Given the description of an element on the screen output the (x, y) to click on. 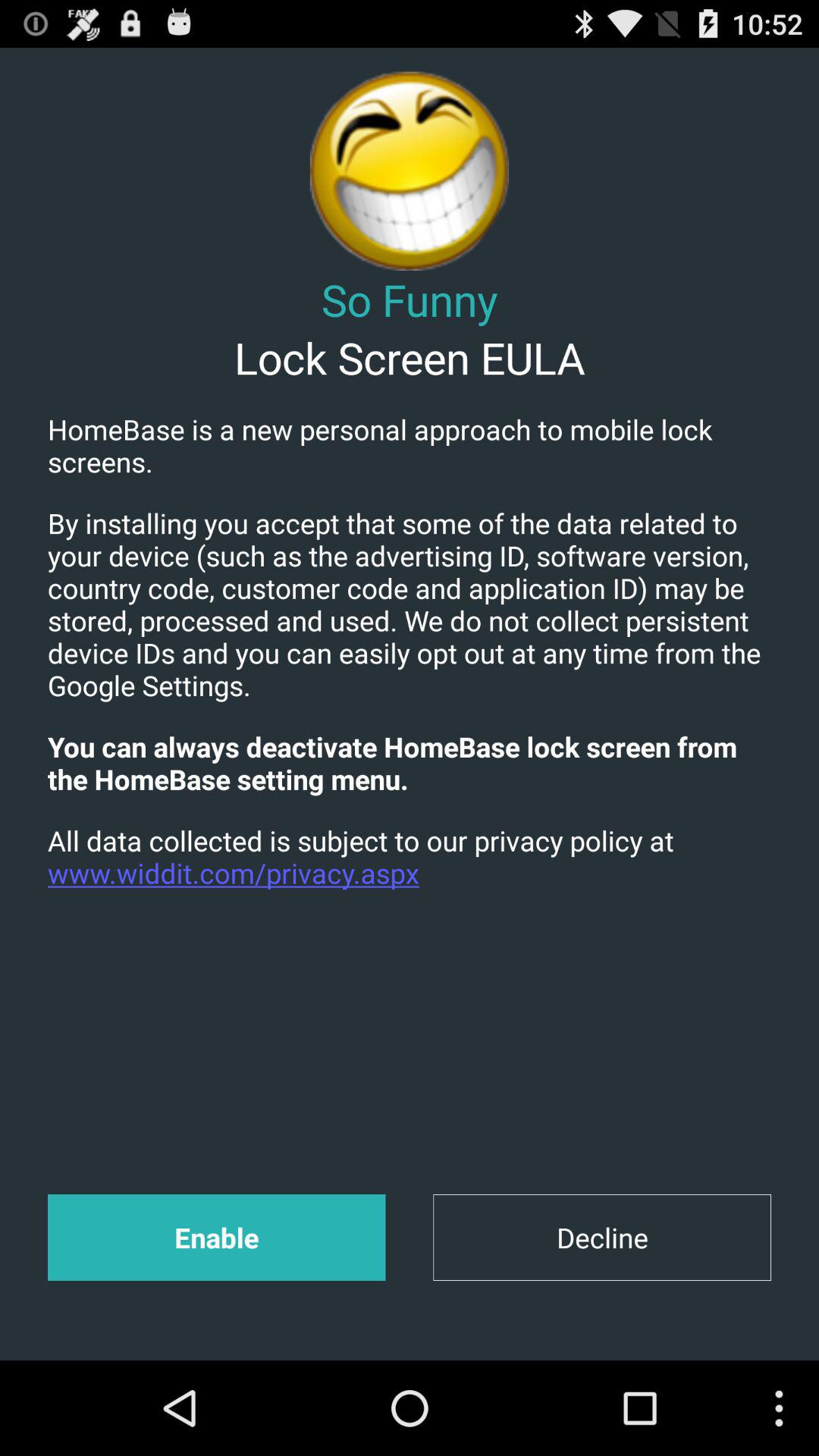
jump until all data collected app (409, 856)
